Given the description of an element on the screen output the (x, y) to click on. 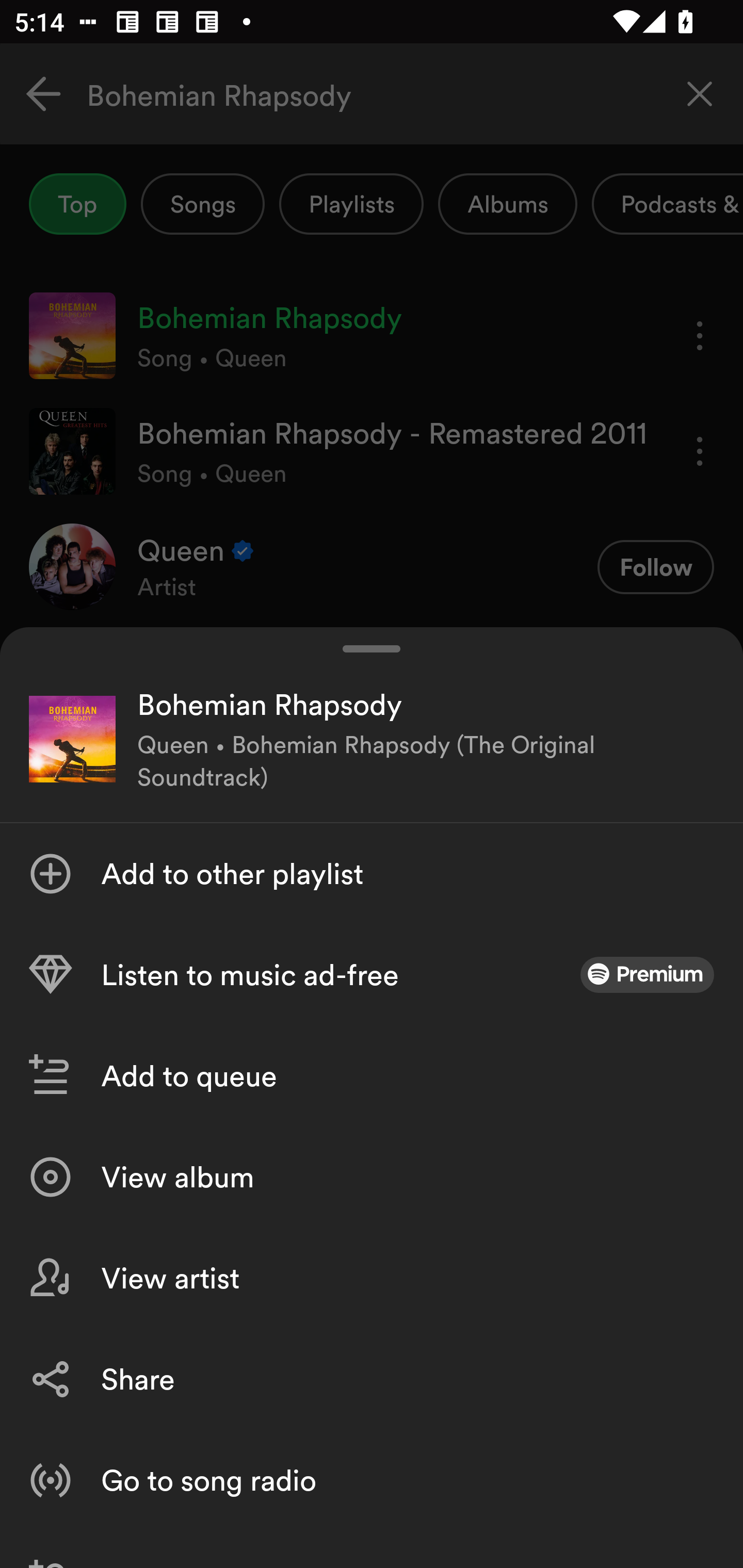
Add to other playlist (371, 873)
Listen to music ad-free (371, 974)
Add to queue (371, 1075)
View album (371, 1176)
View artist (371, 1277)
Share (371, 1379)
Go to song radio (371, 1480)
